Given the description of an element on the screen output the (x, y) to click on. 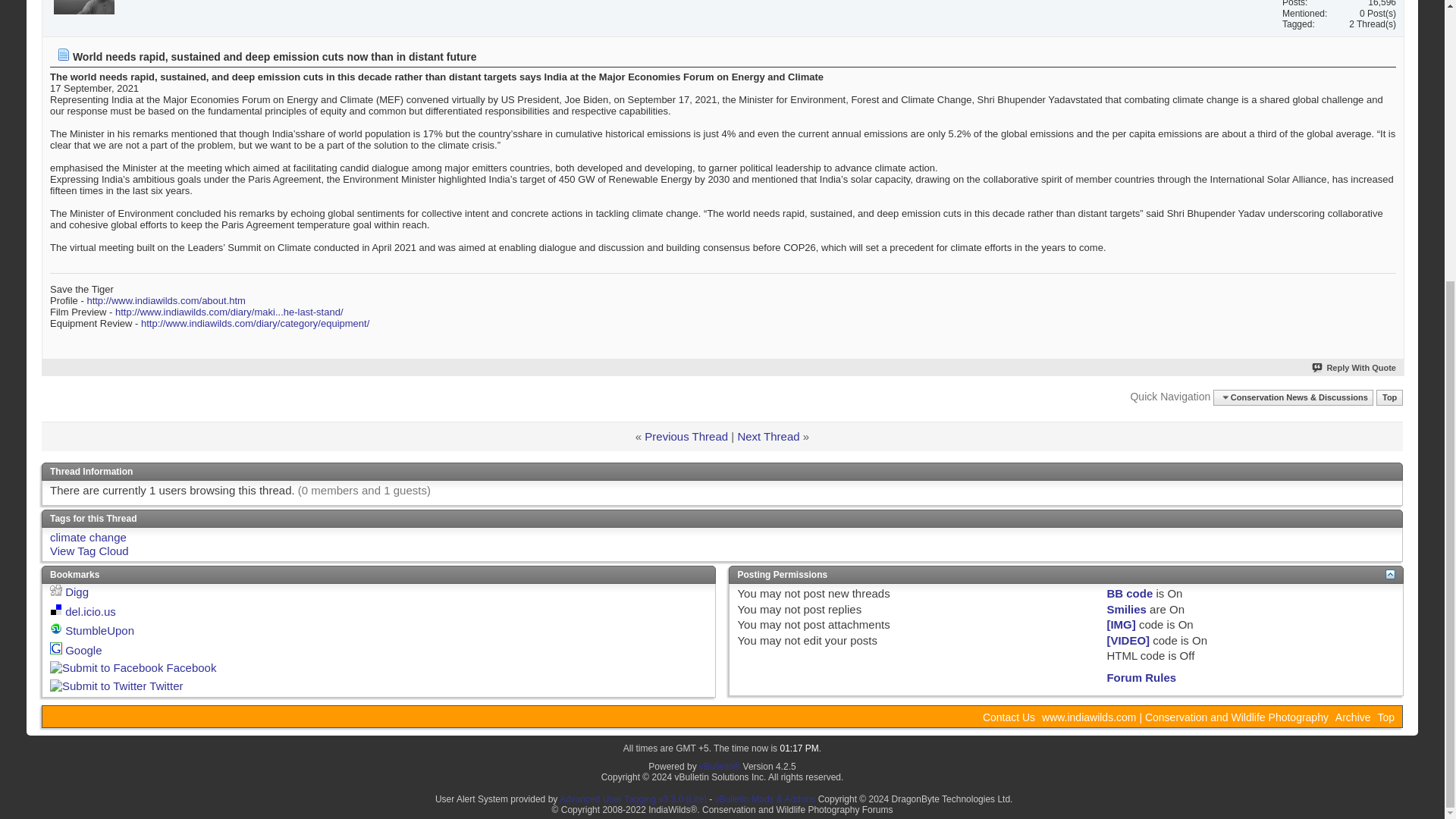
Sabyasachi Patra is offline (84, 7)
Default (63, 54)
Submit to Digg (55, 589)
